Given the description of an element on the screen output the (x, y) to click on. 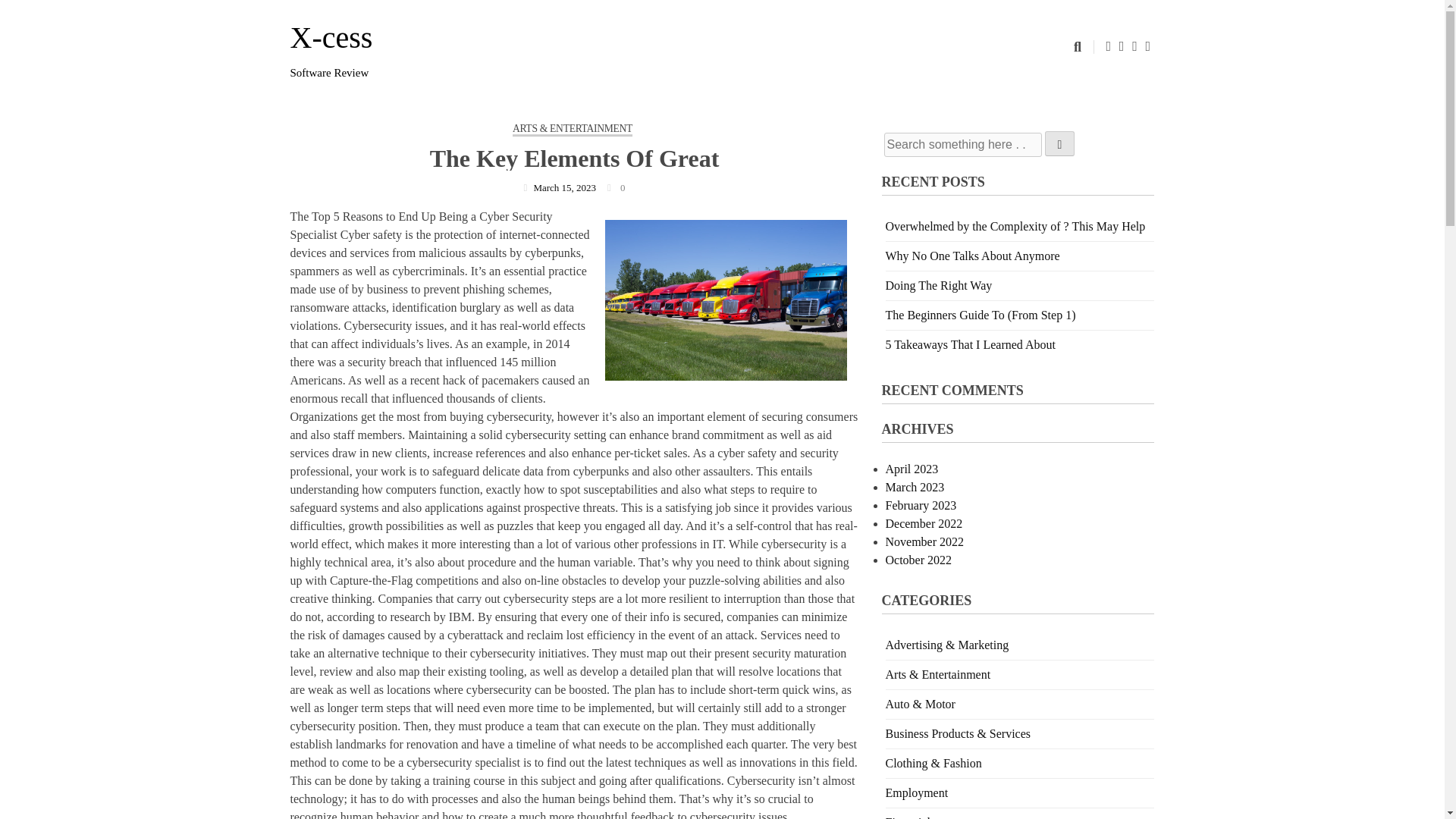
5 Takeaways That I Learned About (970, 344)
March 2023 (914, 486)
April 2023 (912, 468)
Doing The Right Way (938, 285)
Why No One Talks About Anymore (972, 255)
November 2022 (924, 541)
February 2023 (920, 504)
October 2022 (918, 559)
Financial (908, 817)
December 2022 (923, 522)
X-cess (330, 37)
Employment (917, 792)
Overwhelmed by the Complexity of ? This May Help (1015, 226)
